Given the description of an element on the screen output the (x, y) to click on. 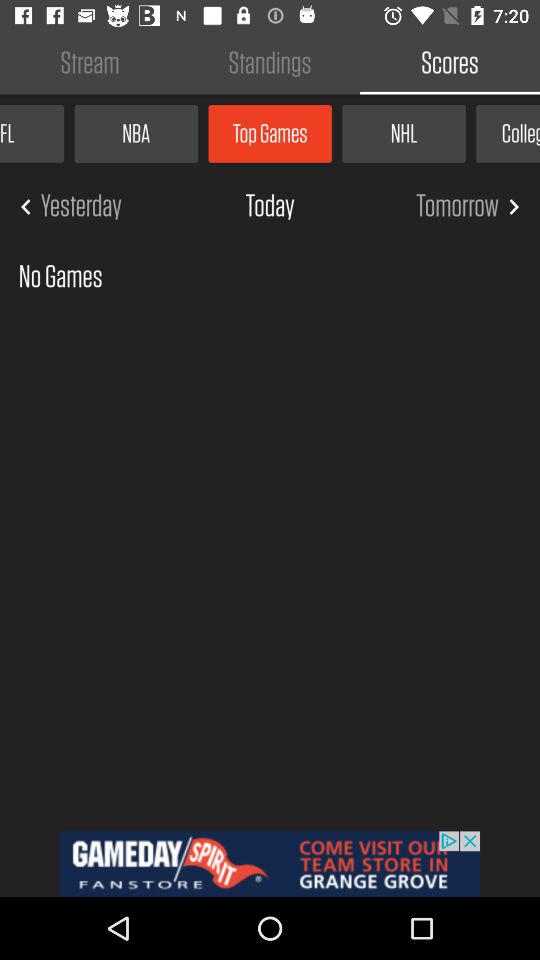
go to advetisement (270, 864)
